Given the description of an element on the screen output the (x, y) to click on. 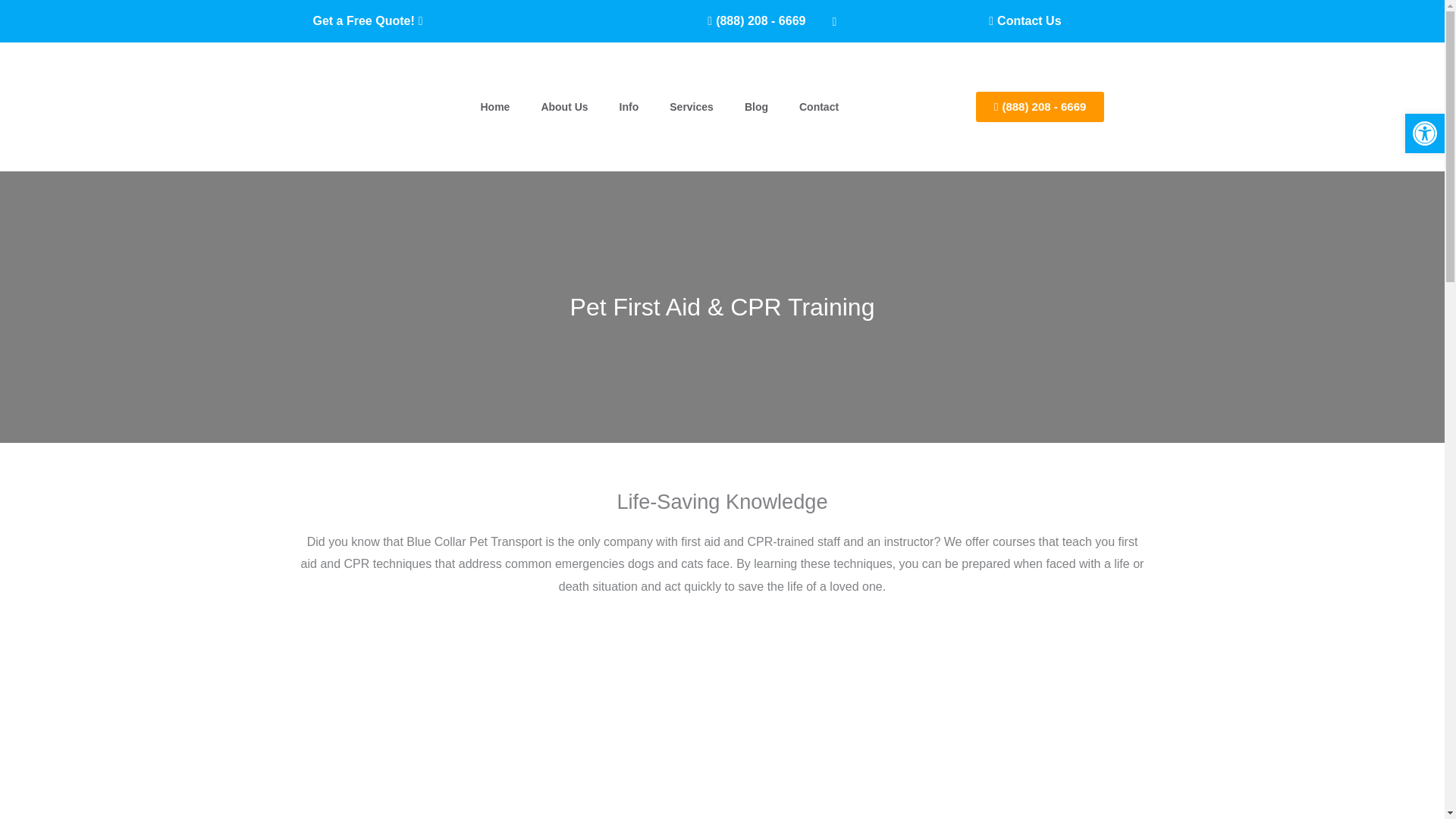
Info (629, 106)
Blog (756, 106)
About Us (564, 106)
Services (691, 106)
About Us (564, 106)
Home (494, 106)
Contact (819, 106)
Accessibility Tools (1424, 133)
Services (691, 106)
Get a Free Quote! (367, 21)
